Given the description of an element on the screen output the (x, y) to click on. 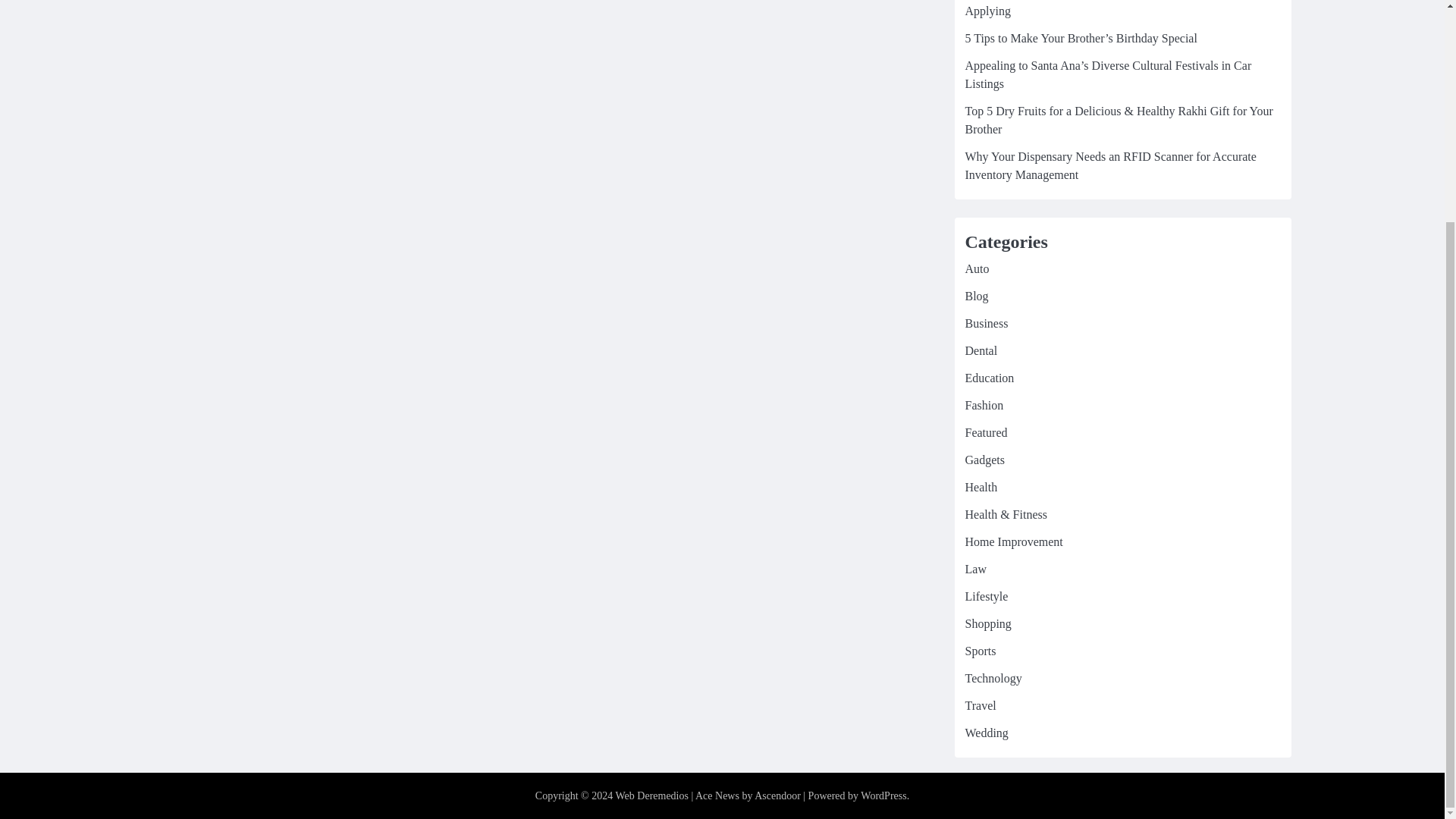
Travel (979, 705)
Health (980, 486)
Sports (979, 650)
Fashion (983, 404)
Law (974, 568)
Education (988, 377)
Technology (992, 677)
Featured (985, 431)
Gadgets (983, 459)
Dental (980, 350)
